Given the description of an element on the screen output the (x, y) to click on. 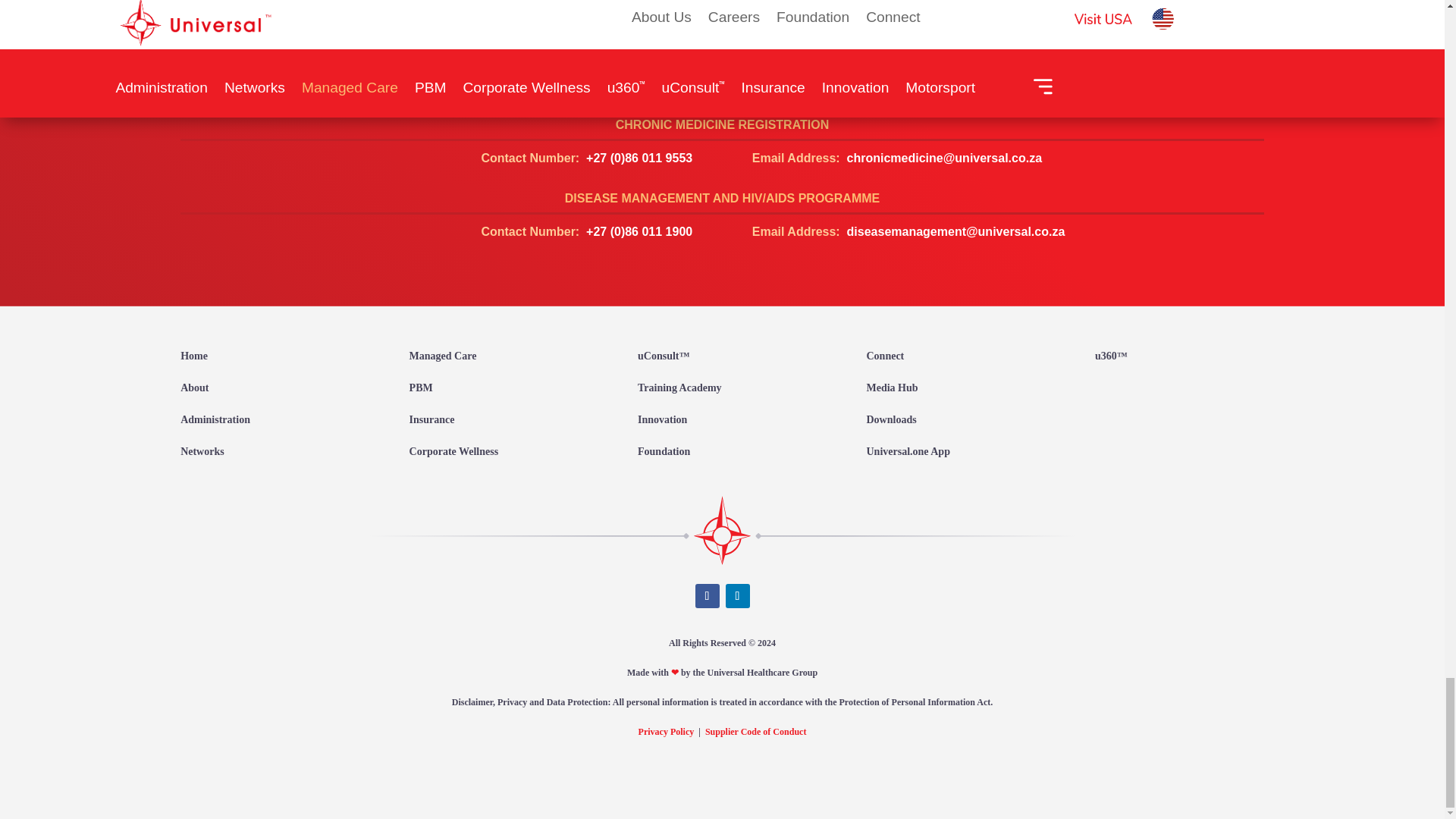
div-footer (721, 530)
Follow on LinkedIn (737, 595)
Follow on Facebook (706, 595)
